Given the description of an element on the screen output the (x, y) to click on. 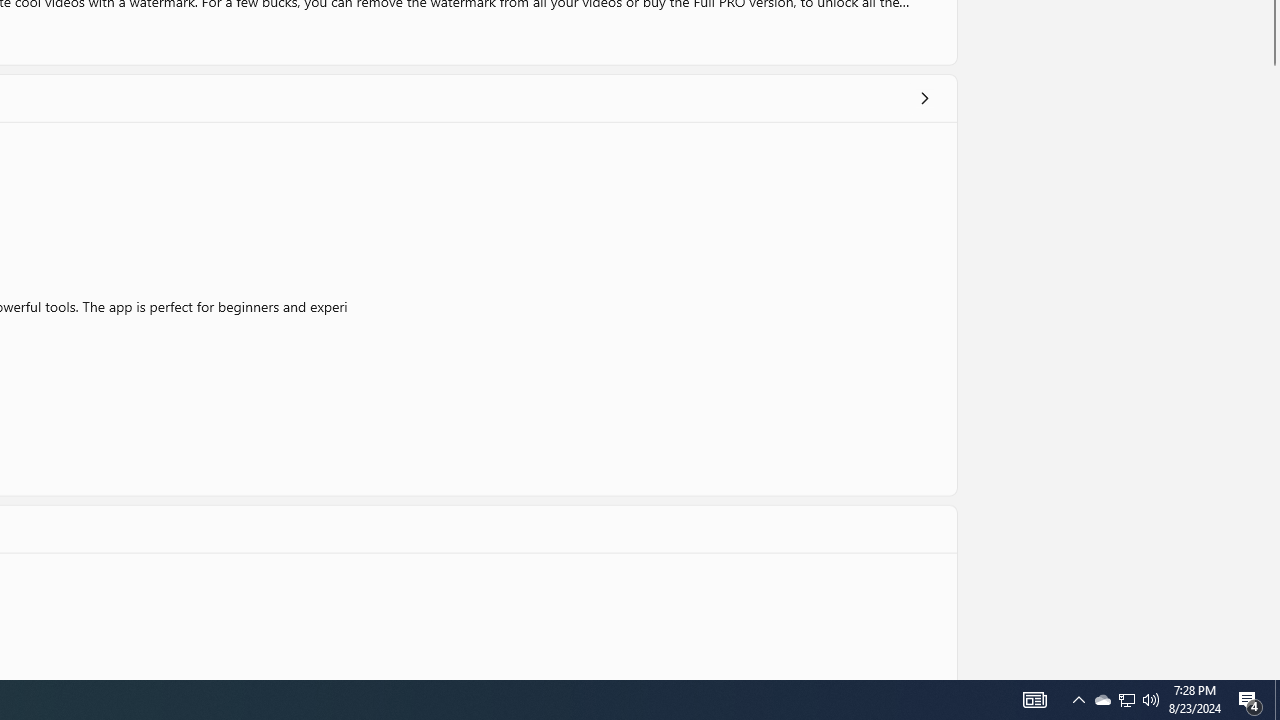
Show all ratings and reviews (924, 97)
